Given the description of an element on the screen output the (x, y) to click on. 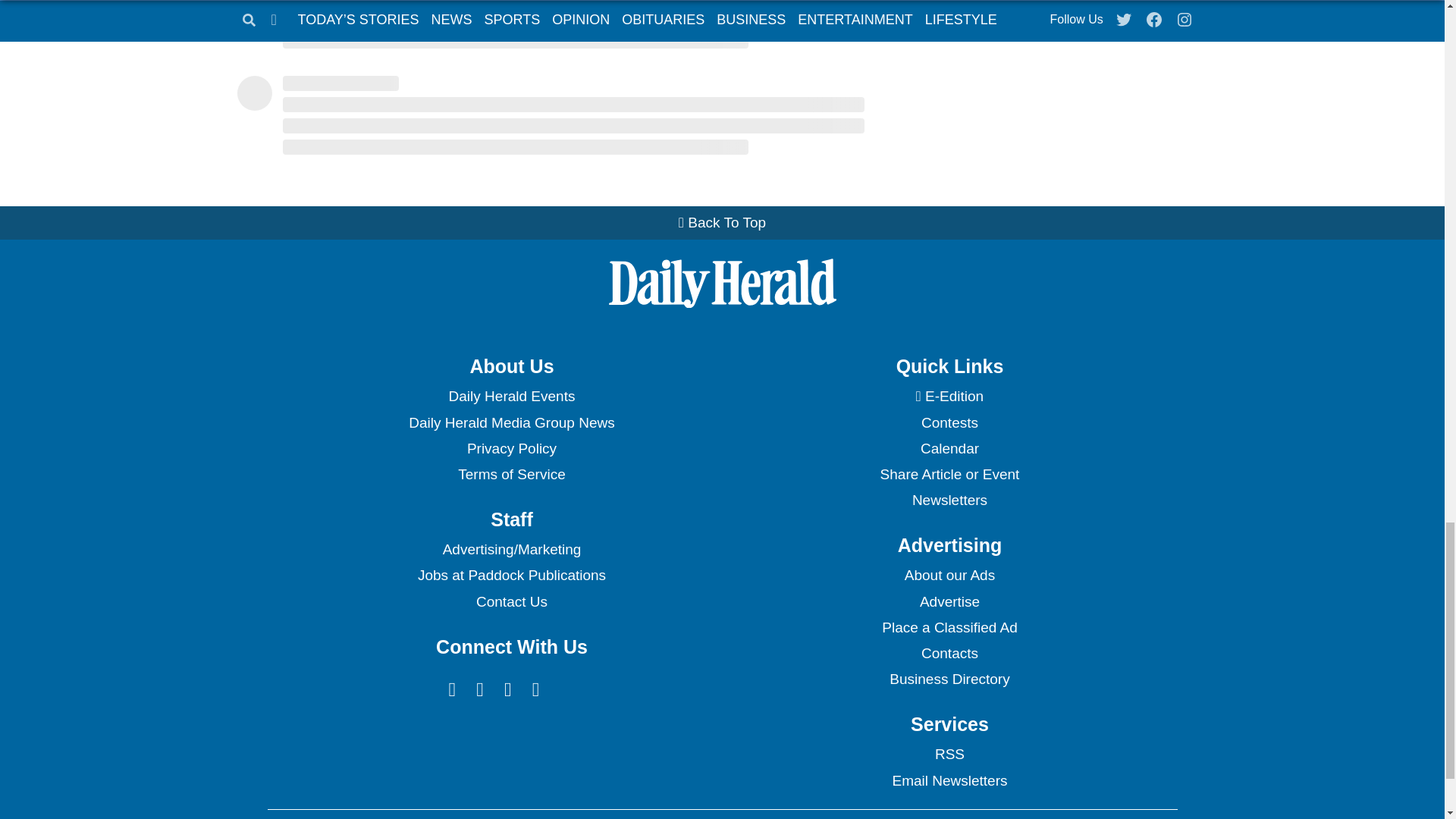
Daily Herald Media Group News (511, 422)
Daily Herald Digital Newspaper (949, 396)
Privacy Policy (511, 448)
Daily Herald Events (511, 396)
Contact Us (511, 601)
Terms of Service (511, 474)
Jobs at Paddock Publications (511, 575)
